Given the description of an element on the screen output the (x, y) to click on. 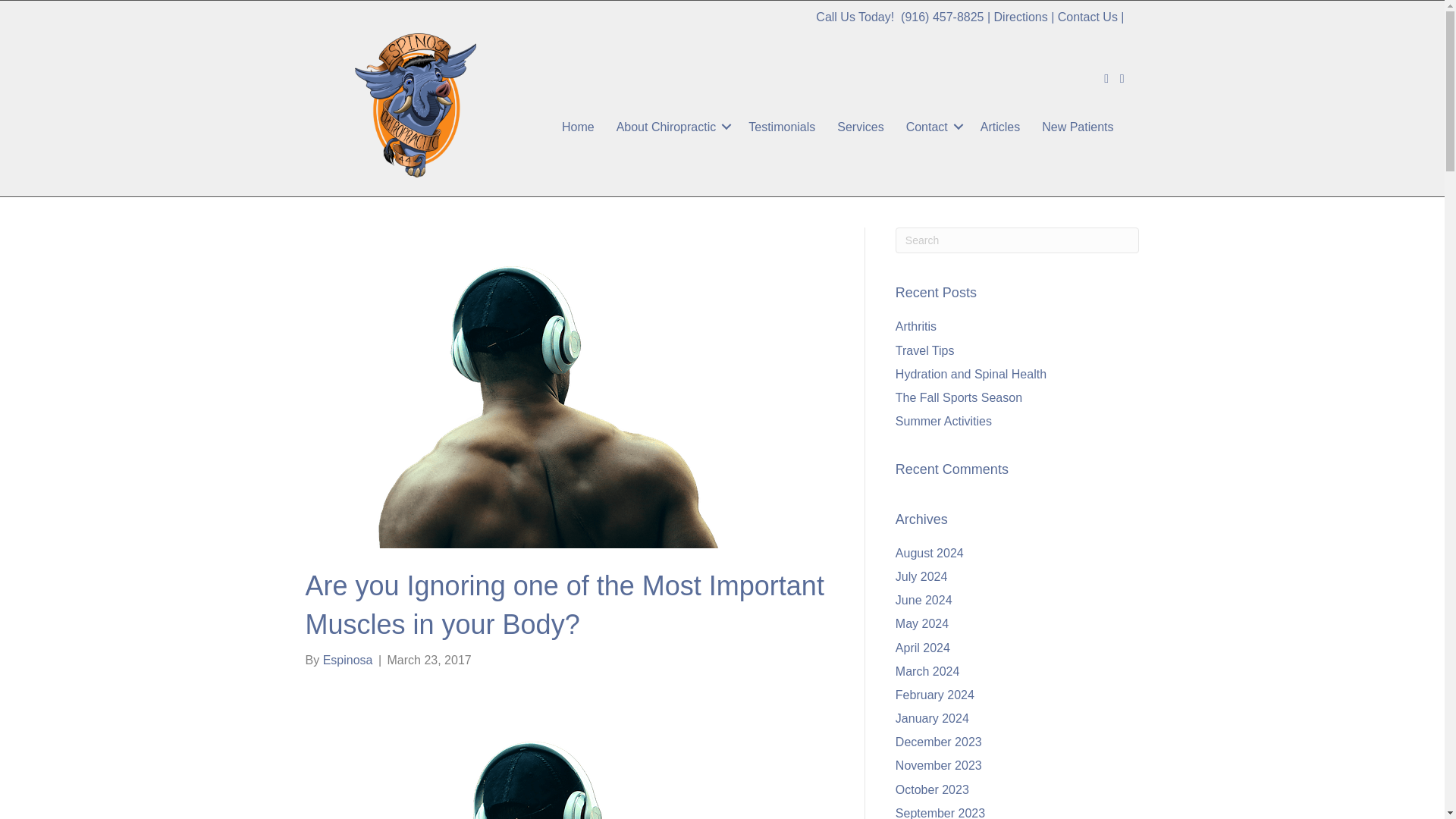
February 2024 (934, 694)
Contact (932, 126)
January 2024 (932, 717)
August 2024 (929, 553)
November 2023 (938, 765)
September 2023 (940, 812)
Espinosa (347, 659)
Home (578, 126)
June 2024 (923, 599)
Contact Us (1088, 16)
